Given the description of an element on the screen output the (x, y) to click on. 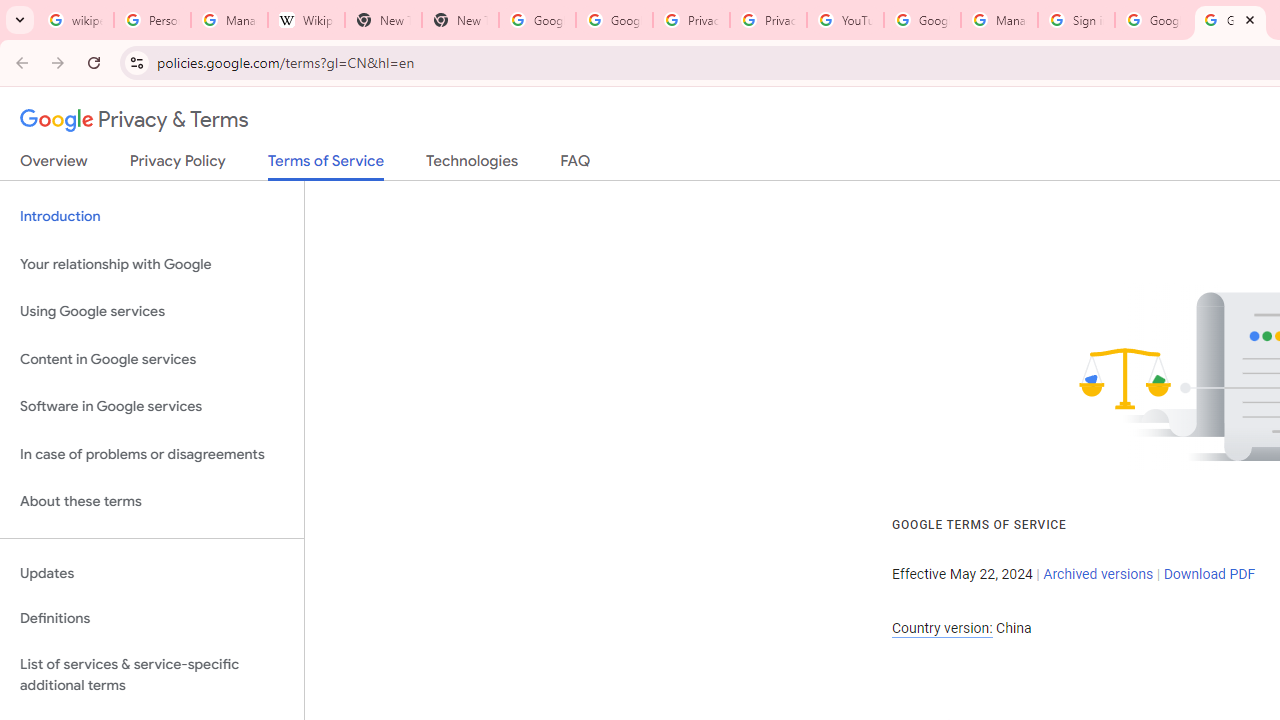
List of services & service-specific additional terms (152, 674)
Google Account Help (922, 20)
Technologies (472, 165)
Archived versions (1098, 574)
Your relationship with Google (152, 263)
Wikipedia:Edit requests - Wikipedia (306, 20)
Manage your Location History - Google Search Help (228, 20)
Introduction (152, 216)
